Given the description of an element on the screen output the (x, y) to click on. 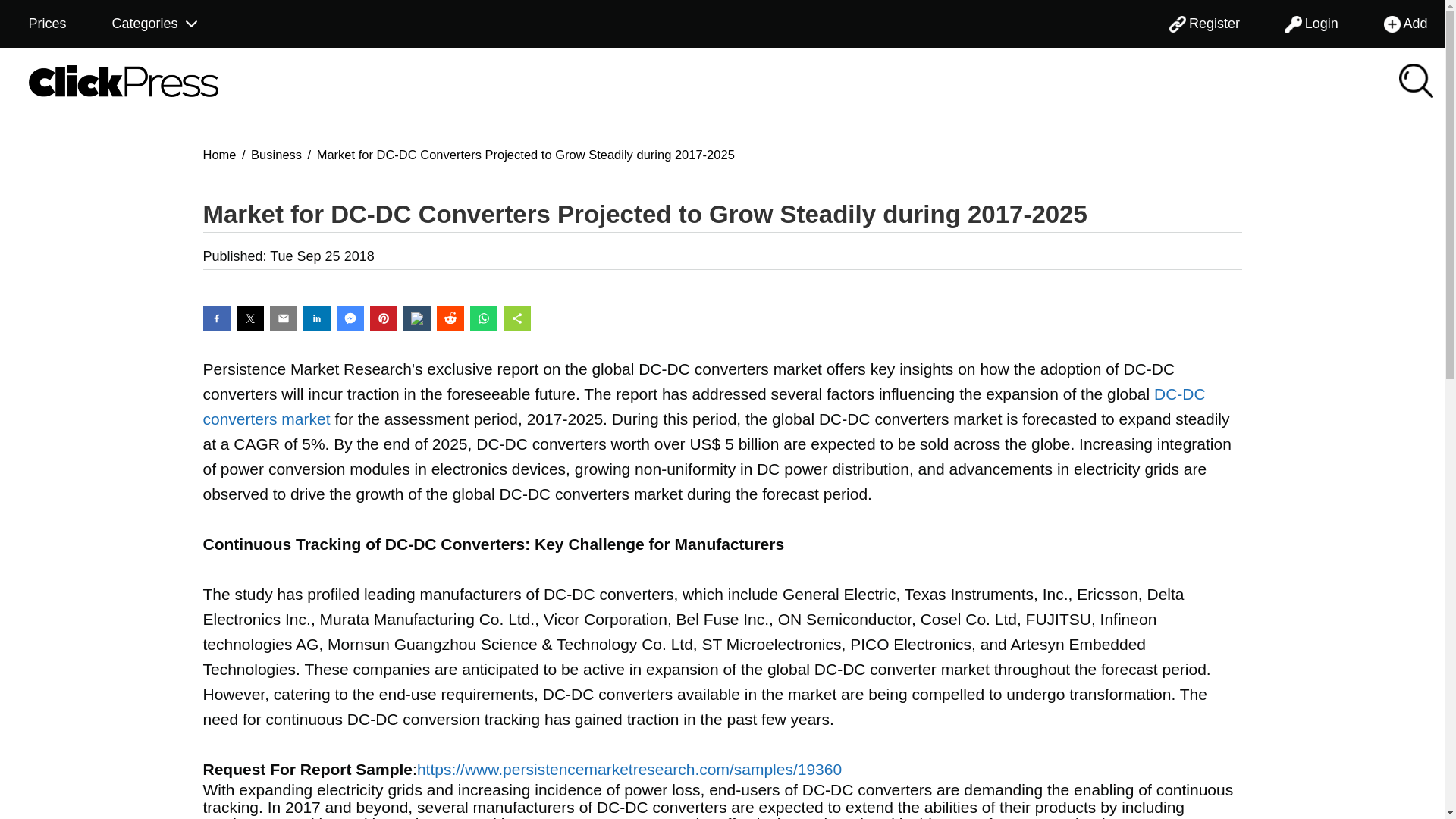
Prices (46, 23)
Login (1311, 23)
Categories   (155, 23)
Business (275, 153)
Home (219, 153)
Add (1406, 23)
DC-DC converters market (704, 405)
Register (1203, 23)
